Given the description of an element on the screen output the (x, y) to click on. 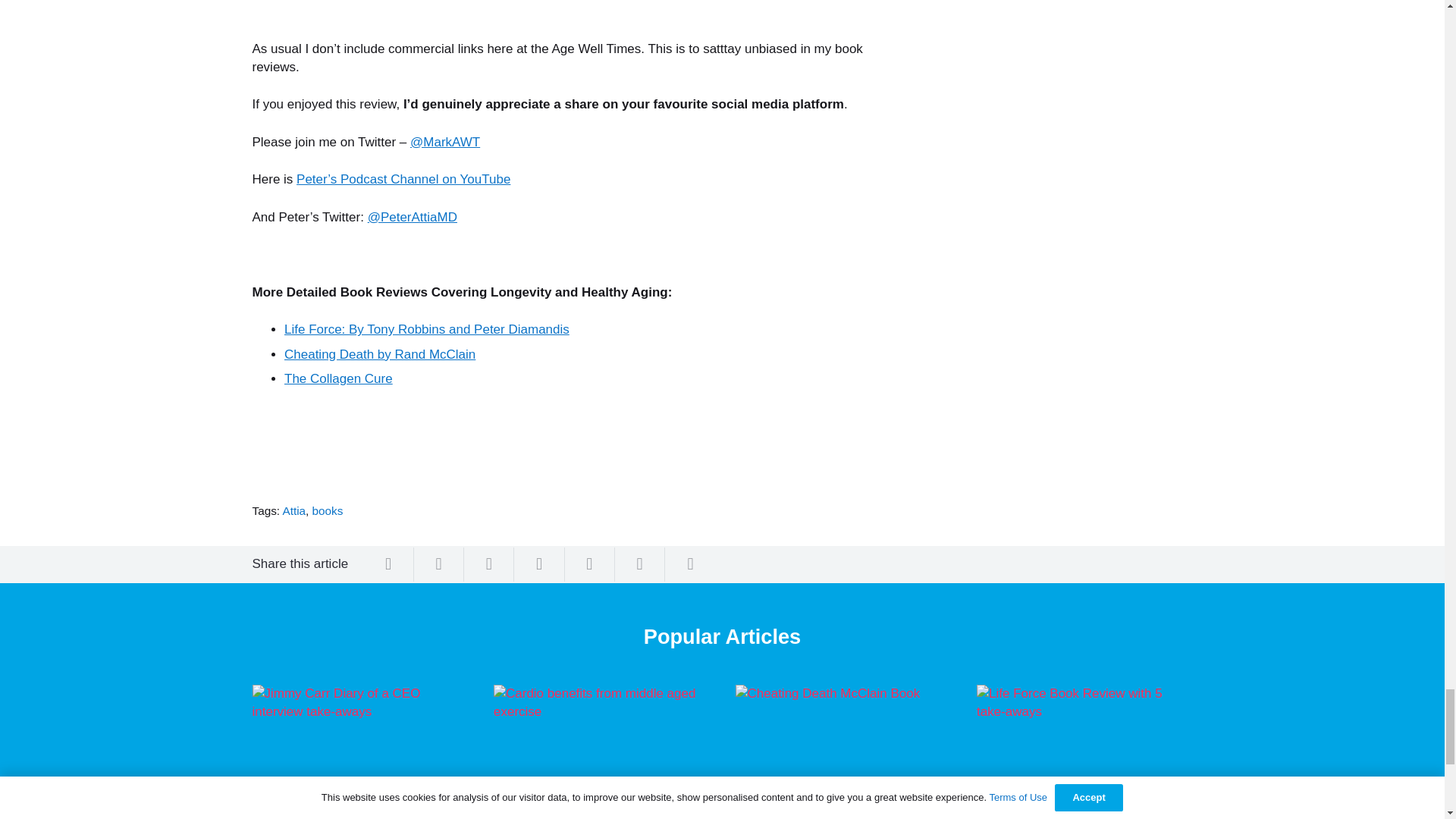
Cheating Death by Rand McClain (379, 354)
Pin this (538, 563)
The Collagen Cure (338, 378)
Share this (639, 563)
Tweet this (438, 563)
Share this (488, 563)
books (328, 510)
Share this (689, 563)
Share this (589, 563)
Attia (293, 510)
